Given the description of an element on the screen output the (x, y) to click on. 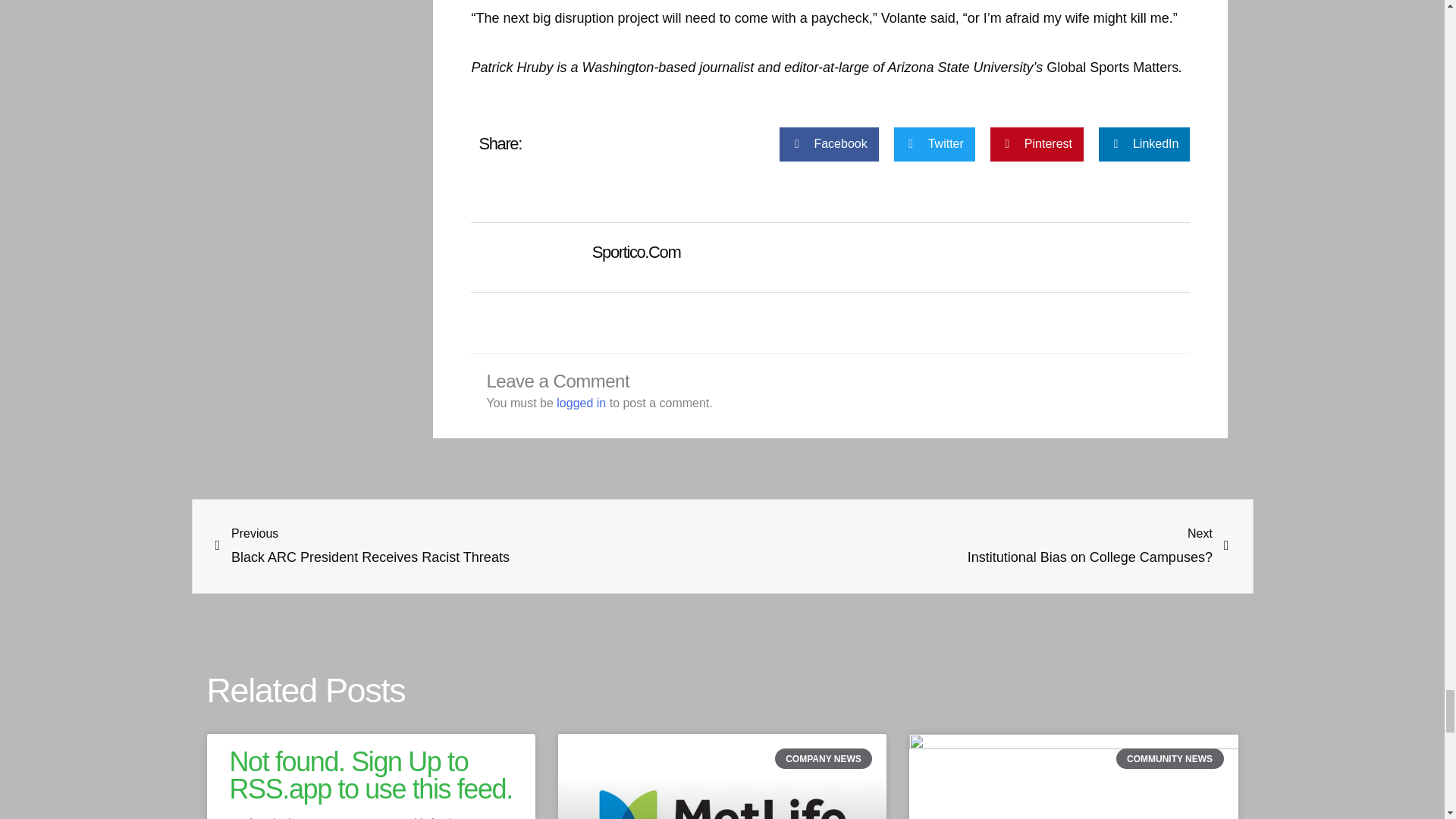
logged in (580, 402)
